Given the description of an element on the screen output the (x, y) to click on. 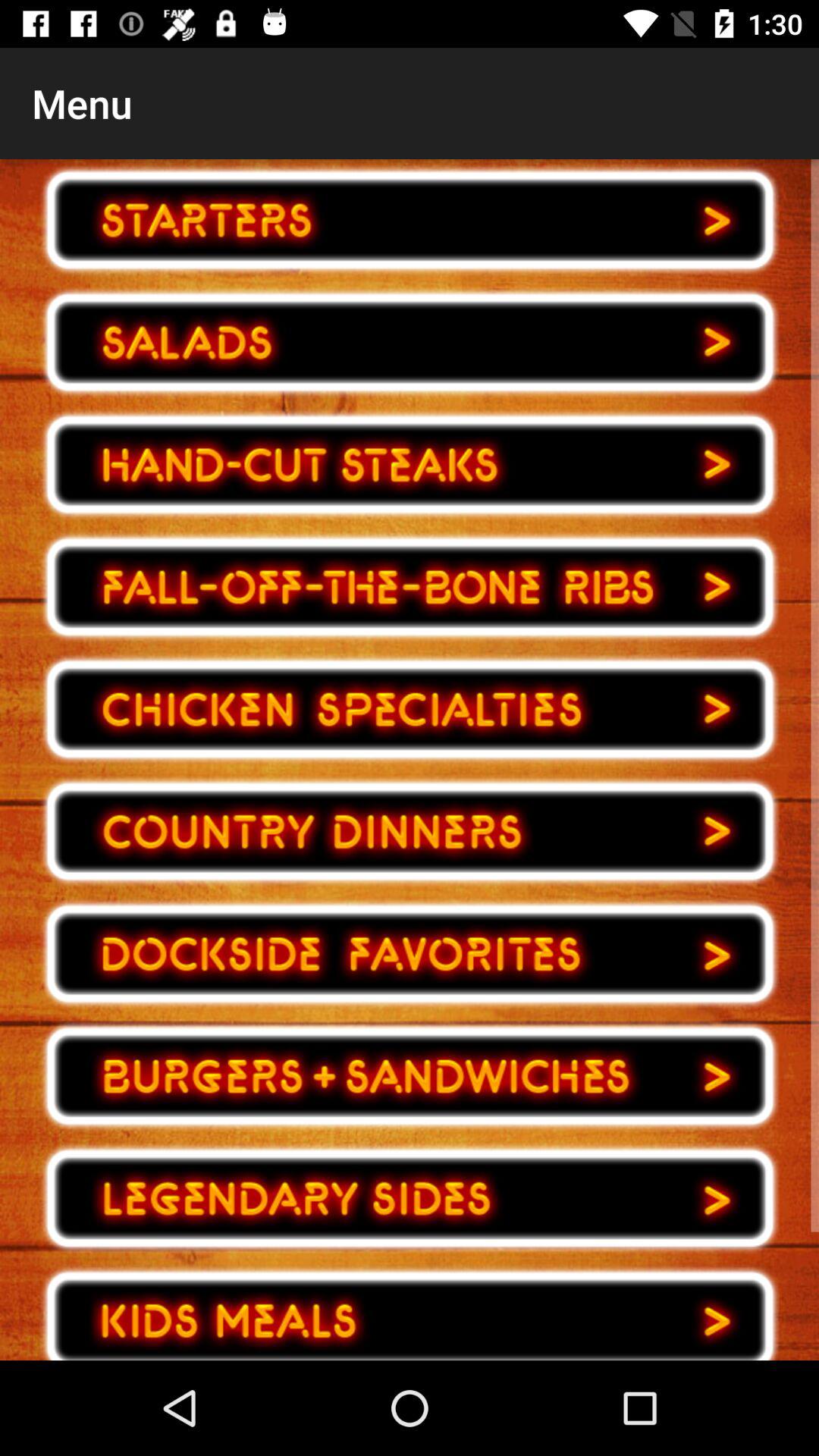
buttons to next page (409, 587)
